Given the description of an element on the screen output the (x, y) to click on. 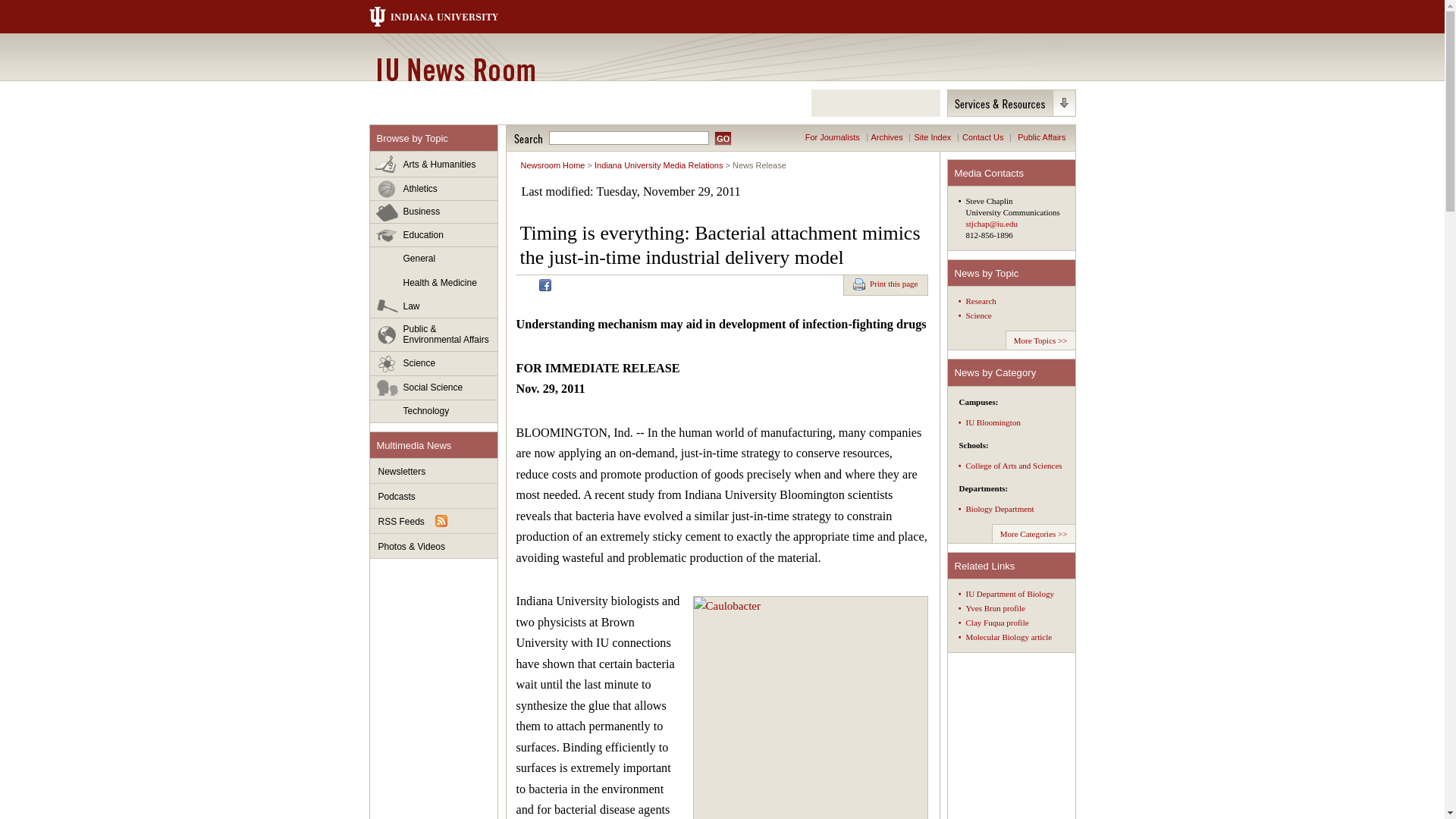
Social Science (433, 387)
Education (433, 235)
Education (433, 235)
Athletics (433, 188)
Business (433, 211)
Podcasts (433, 496)
Science (433, 363)
IU News Room (455, 69)
IU News Room (455, 69)
Indiana University (448, 16)
